Given the description of an element on the screen output the (x, y) to click on. 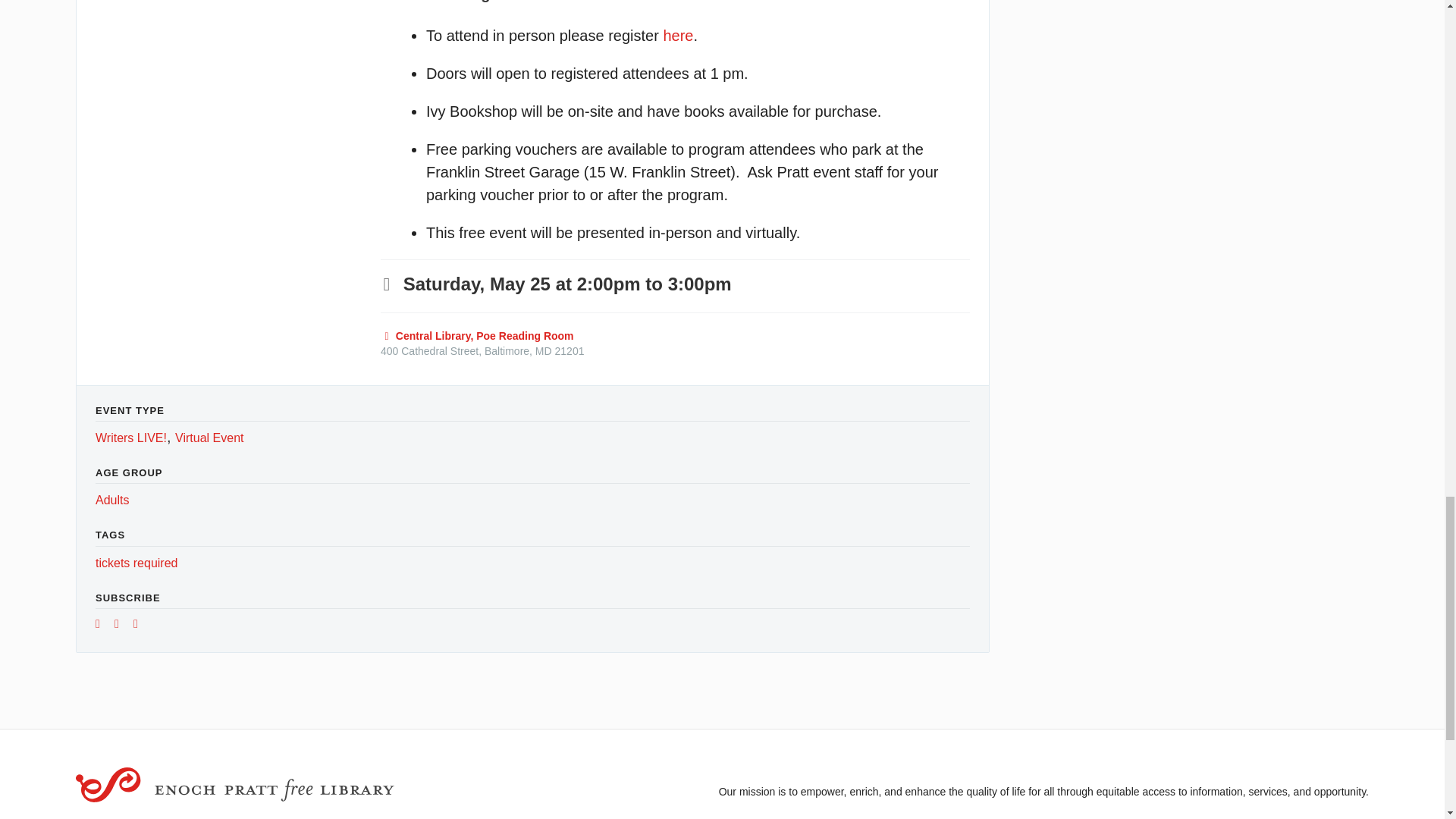
2024-05-25T14:00:00-04:00 (512, 283)
Save to Google Calendar (103, 625)
2024-05-25T15:00:00-04:00 (700, 283)
Save to Outlook (140, 625)
Save to iCal (122, 625)
